Given the description of an element on the screen output the (x, y) to click on. 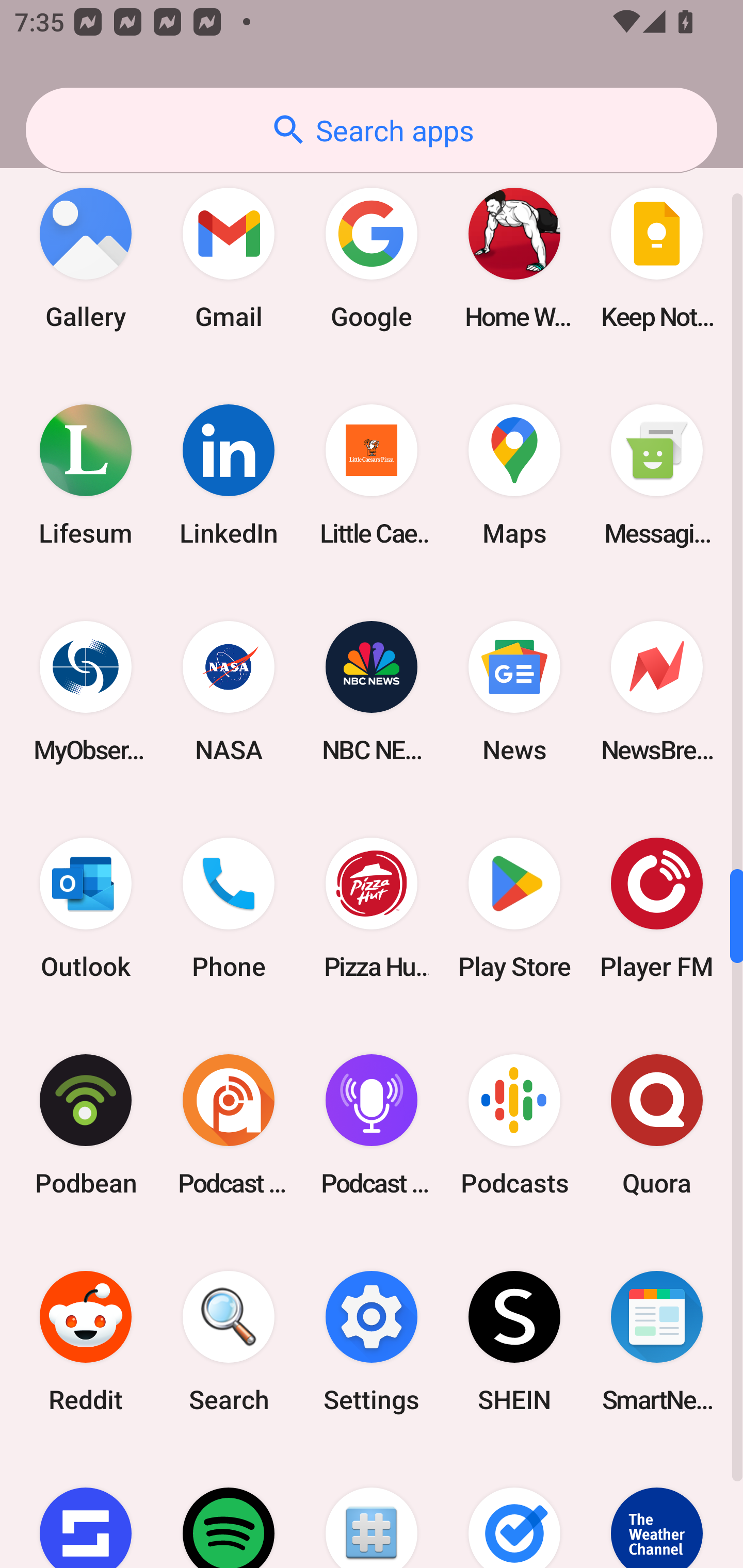
  Search apps (371, 130)
Gallery (85, 258)
Gmail (228, 258)
Google (371, 258)
Home Workout (514, 258)
Keep Notes (656, 258)
Lifesum (85, 474)
LinkedIn (228, 474)
Little Caesars Pizza (371, 474)
Maps (514, 474)
Messaging (656, 474)
MyObservatory (85, 691)
NASA (228, 691)
NBC NEWS (371, 691)
News (514, 691)
NewsBreak (656, 691)
Outlook (85, 907)
Phone (228, 907)
Pizza Hut HK & Macau (371, 907)
Play Store (514, 907)
Player FM (656, 907)
Podbean (85, 1125)
Podcast Addict (228, 1125)
Podcast Player (371, 1125)
Podcasts (514, 1125)
Quora (656, 1125)
Reddit (85, 1342)
Search (228, 1342)
Settings (371, 1342)
SHEIN (514, 1342)
SmartNews (656, 1342)
Sofascore (85, 1509)
Spotify (228, 1509)
Superuser (371, 1509)
Tasks (514, 1509)
The Weather Channel (656, 1509)
